Given the description of an element on the screen output the (x, y) to click on. 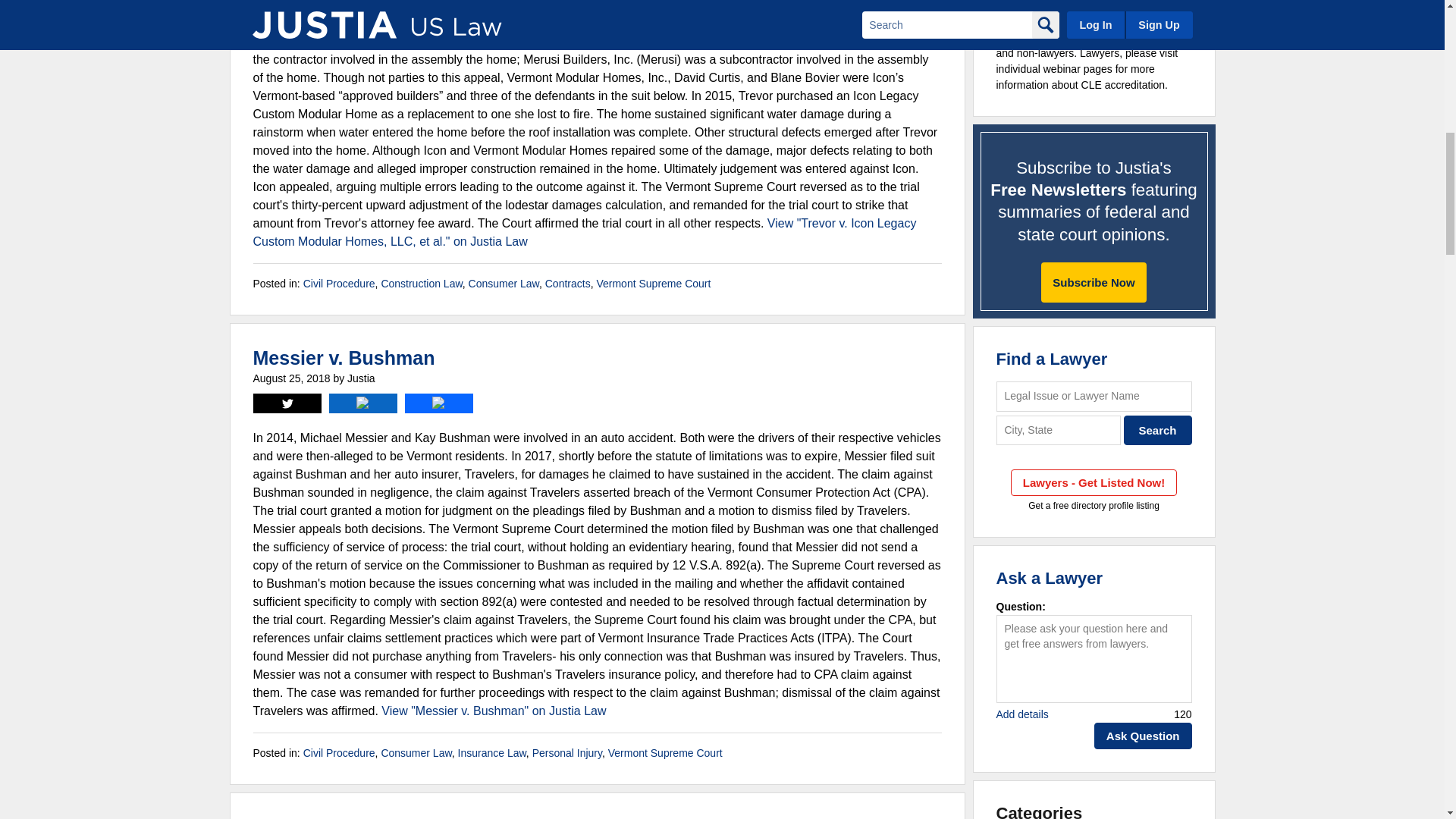
View all posts in Civil Procedure (338, 283)
View all posts in Contracts (567, 283)
Permalink to Messier v. Bushman (344, 357)
View all posts in Consumer Law (415, 752)
Search (1158, 430)
View all posts in Personal Injury (567, 752)
Search (1158, 430)
View all posts in Vermont Supreme Court (652, 283)
View all posts in Vermont Supreme Court (665, 752)
